Given the description of an element on the screen output the (x, y) to click on. 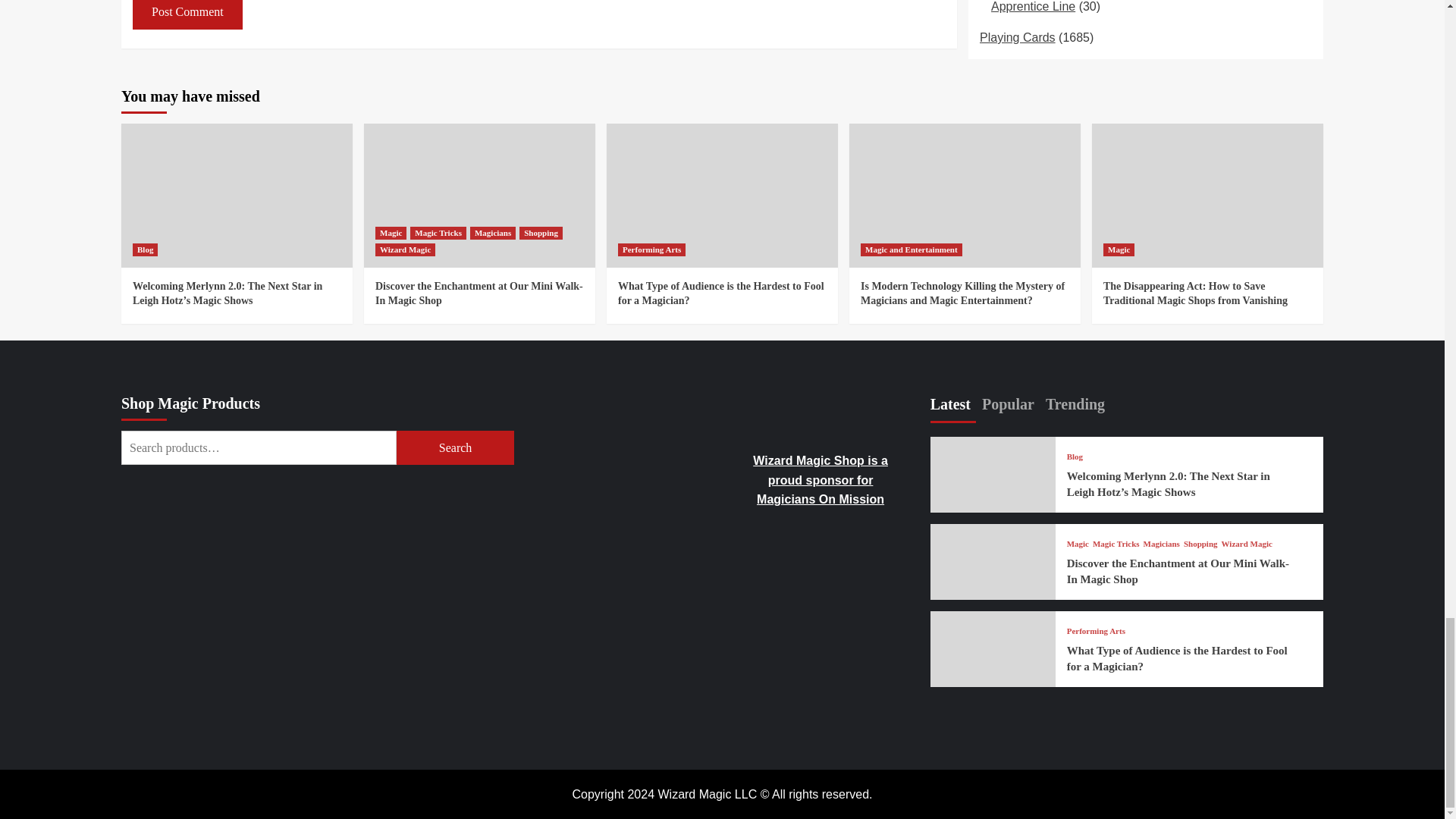
Post Comment (187, 14)
Post Comment (187, 14)
